Given the description of an element on the screen output the (x, y) to click on. 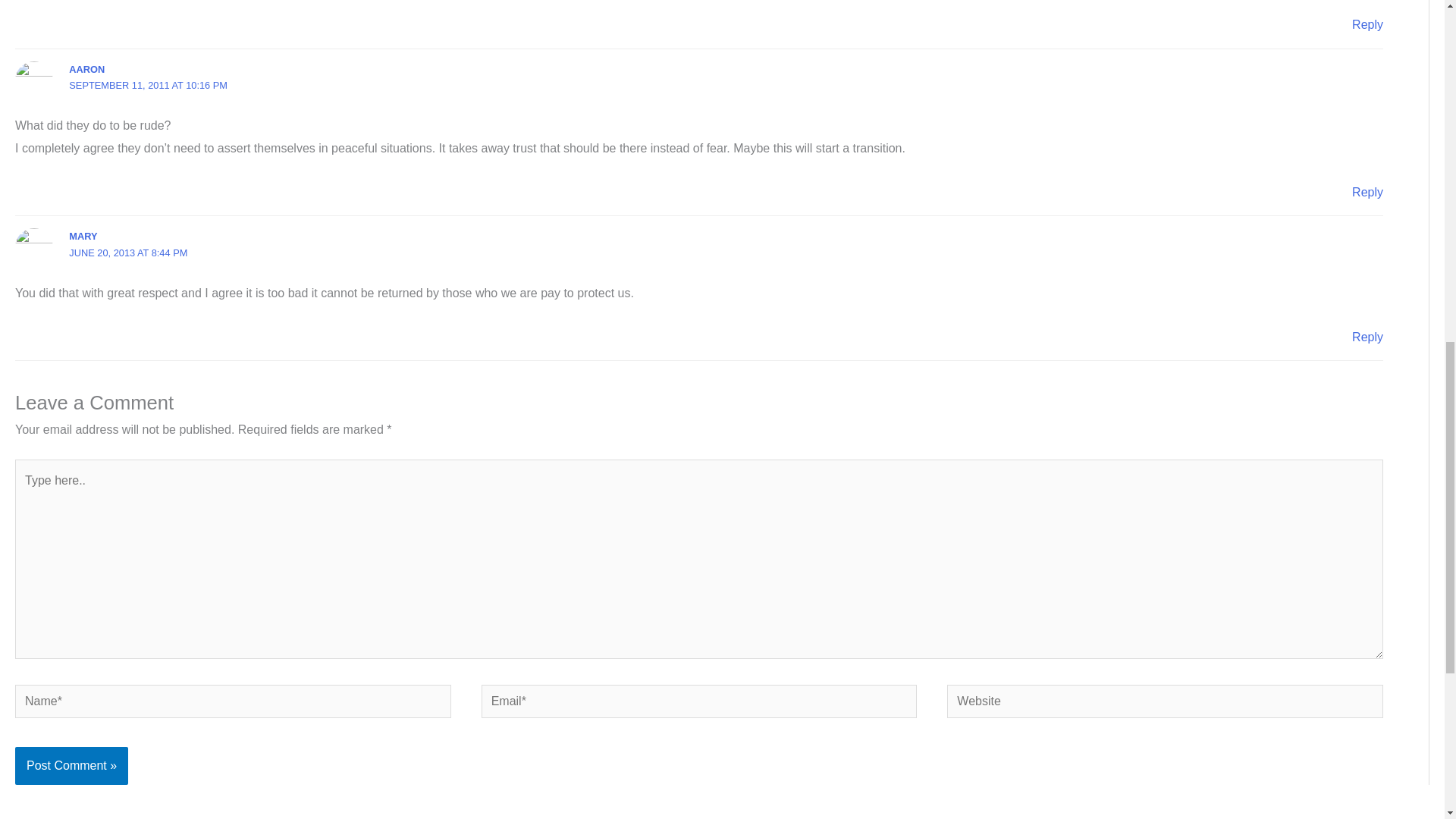
MARY (82, 235)
Reply (1367, 24)
SEPTEMBER 11, 2011 AT 10:16 PM (147, 84)
AARON (86, 69)
Reply (1367, 192)
Reply (1367, 336)
JUNE 20, 2013 AT 8:44 PM (127, 252)
